Given the description of an element on the screen output the (x, y) to click on. 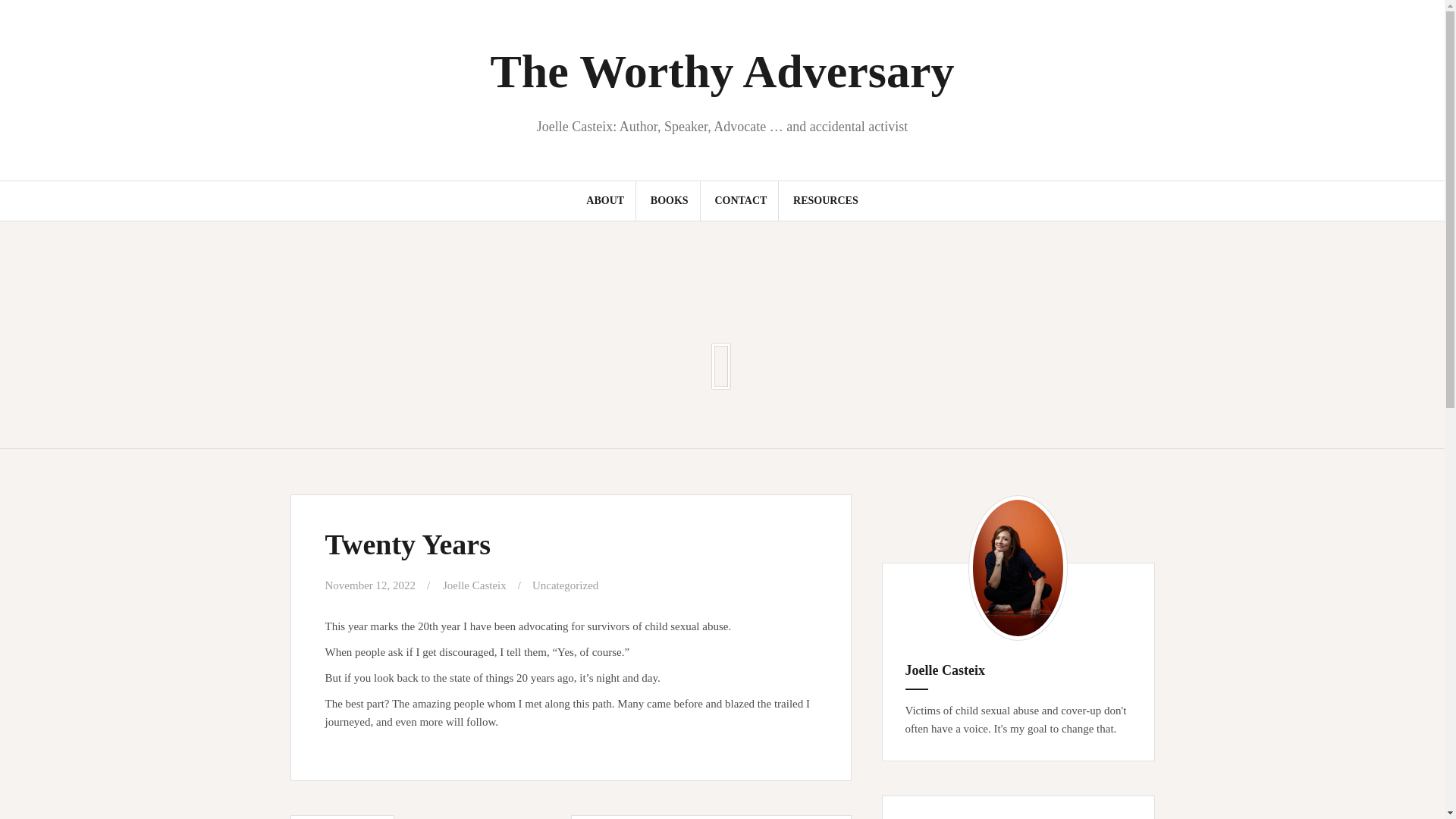
Search (28, 20)
BOOKS (669, 200)
Joelle Casteix (474, 585)
ABOUT (605, 200)
CONTACT (740, 200)
Uncategorized (565, 585)
The Worthy Adversary (721, 71)
November 12, 2022 (369, 585)
RESOURCES (826, 200)
